Given the description of an element on the screen output the (x, y) to click on. 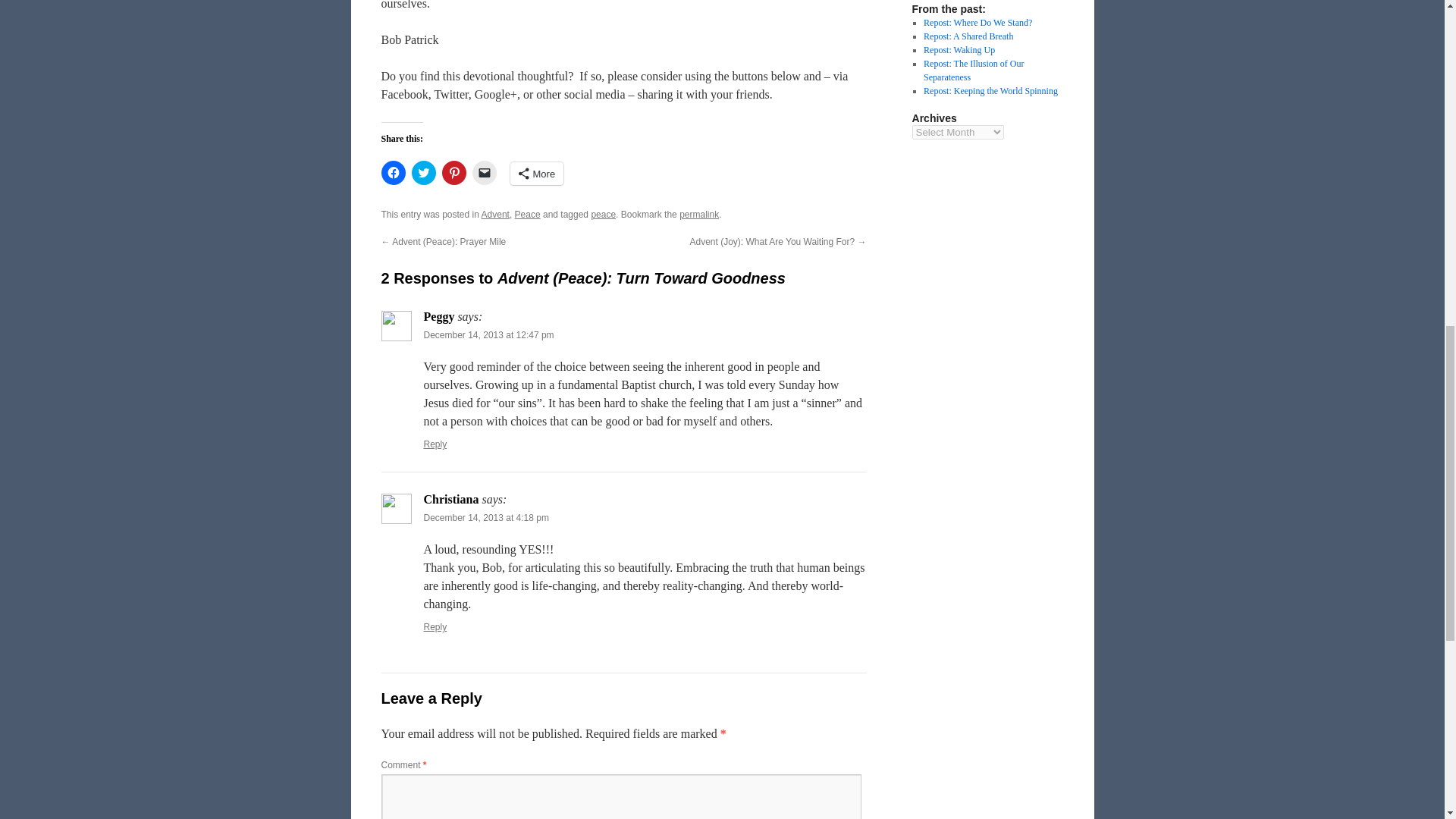
Advent (495, 214)
Repost: Waking Up (958, 50)
Peace (527, 214)
permalink (699, 214)
Repost: Where Do We Stand? (977, 22)
Repost: The Illusion of Our Separateness (973, 70)
More (536, 173)
Click to email a link to a friend (483, 172)
December 14, 2013 at 12:47 pm (488, 335)
peace (603, 214)
